Given the description of an element on the screen output the (x, y) to click on. 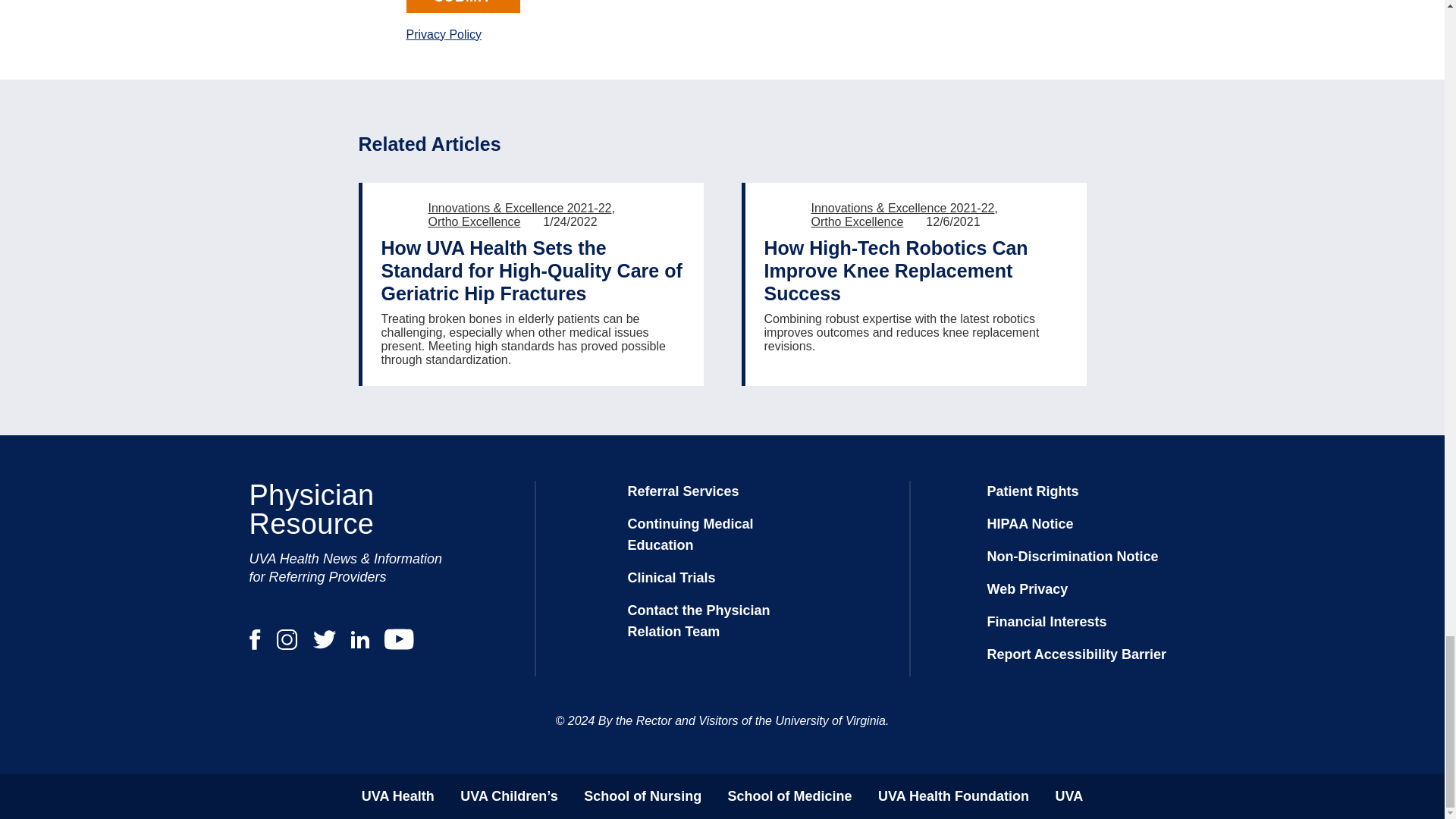
Ortho Excellence (473, 221)
Continuing Medical Education (690, 534)
How High-Tech Robotics Can Improve Knee Replacement Success (915, 270)
Referral Services (683, 491)
Privacy Policy (443, 33)
Submit (462, 6)
HIPAA Notice (1030, 523)
Patient Rights (1032, 491)
Non-Discrimination Notice (1072, 556)
Clinical Trials (671, 577)
Submit (462, 6)
Contact the Physician Relation Team (698, 620)
Ortho Excellence (857, 221)
